Given the description of an element on the screen output the (x, y) to click on. 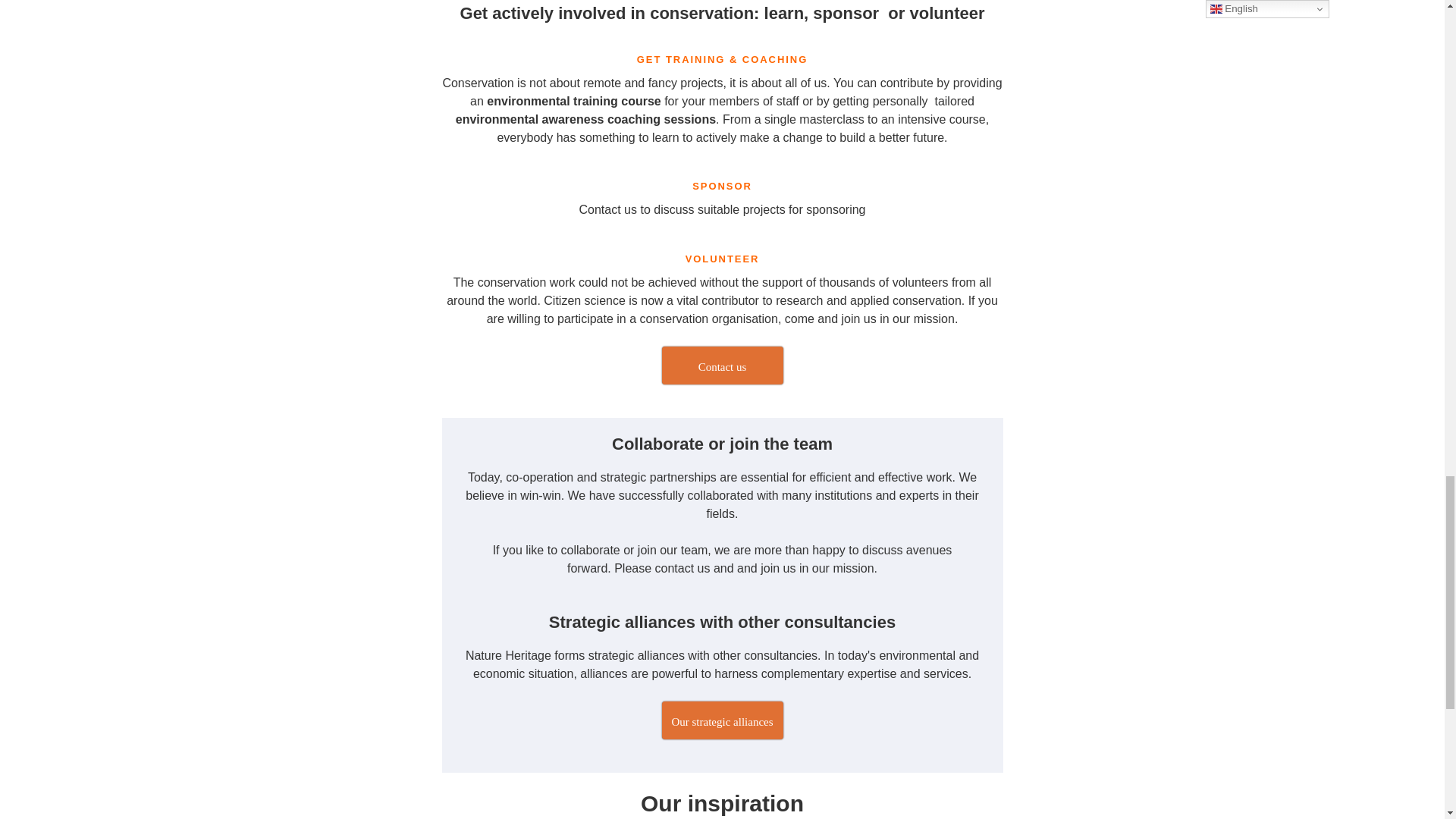
CONTACT US (722, 365)
Alliances (722, 720)
